Given the description of an element on the screen output the (x, y) to click on. 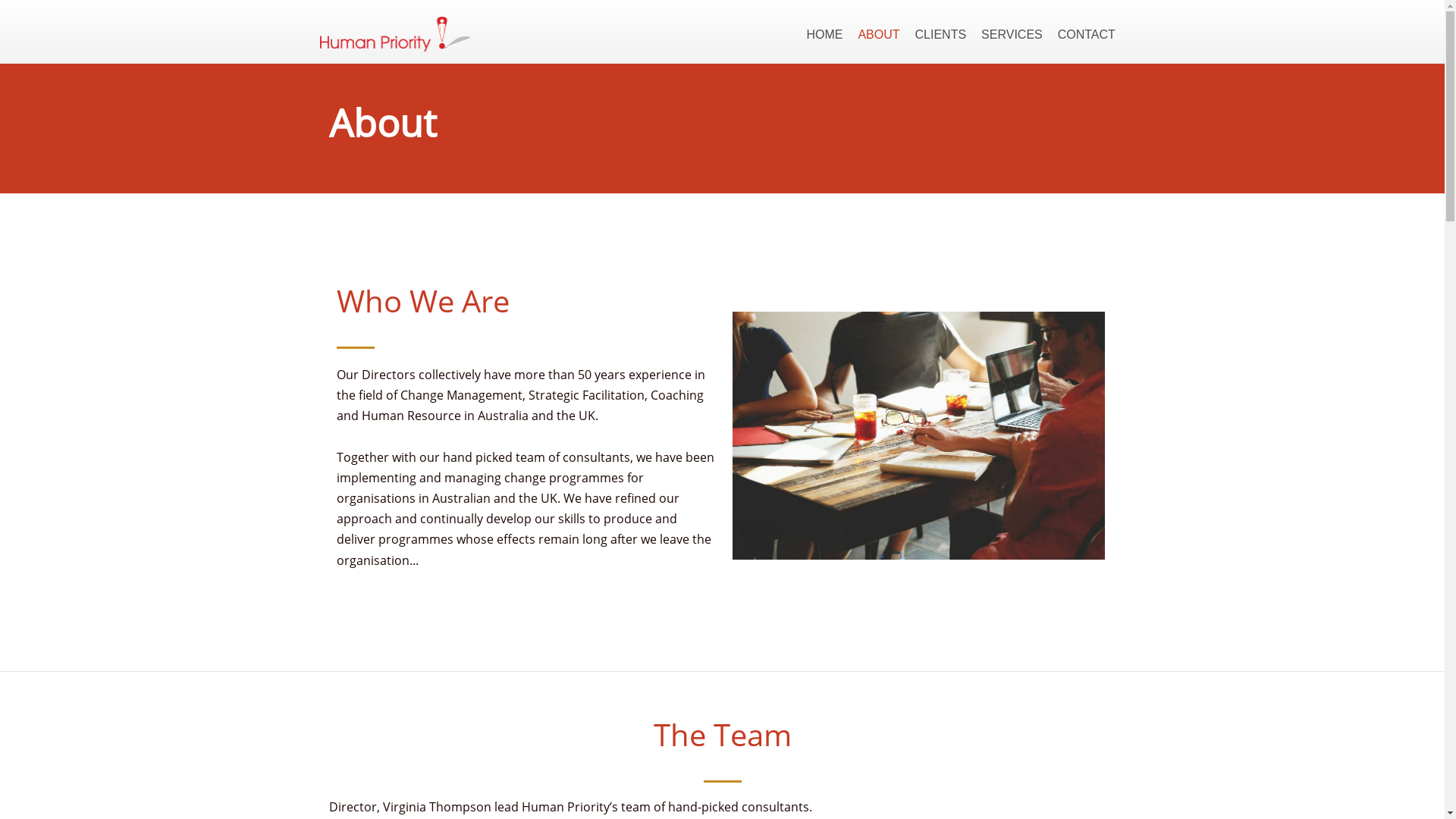
CLIENTS Element type: text (940, 34)
SERVICES Element type: text (1011, 34)
ABOUT Element type: text (878, 34)
Team Meeting Element type: hover (918, 435)
CONTACT Element type: text (1086, 34)
HOME Element type: text (824, 34)
